Given the description of an element on the screen output the (x, y) to click on. 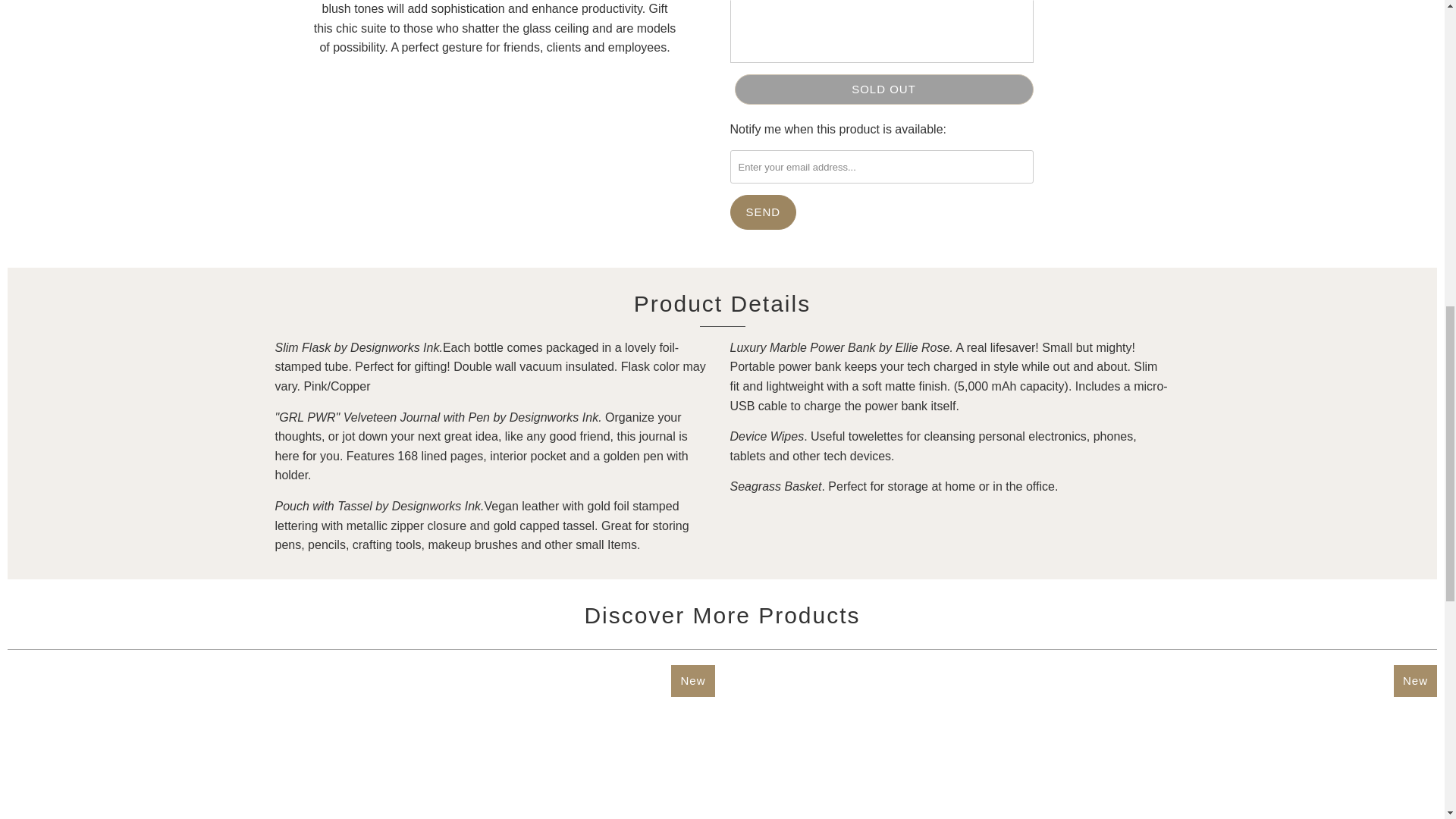
Send (762, 212)
